Given the description of an element on the screen output the (x, y) to click on. 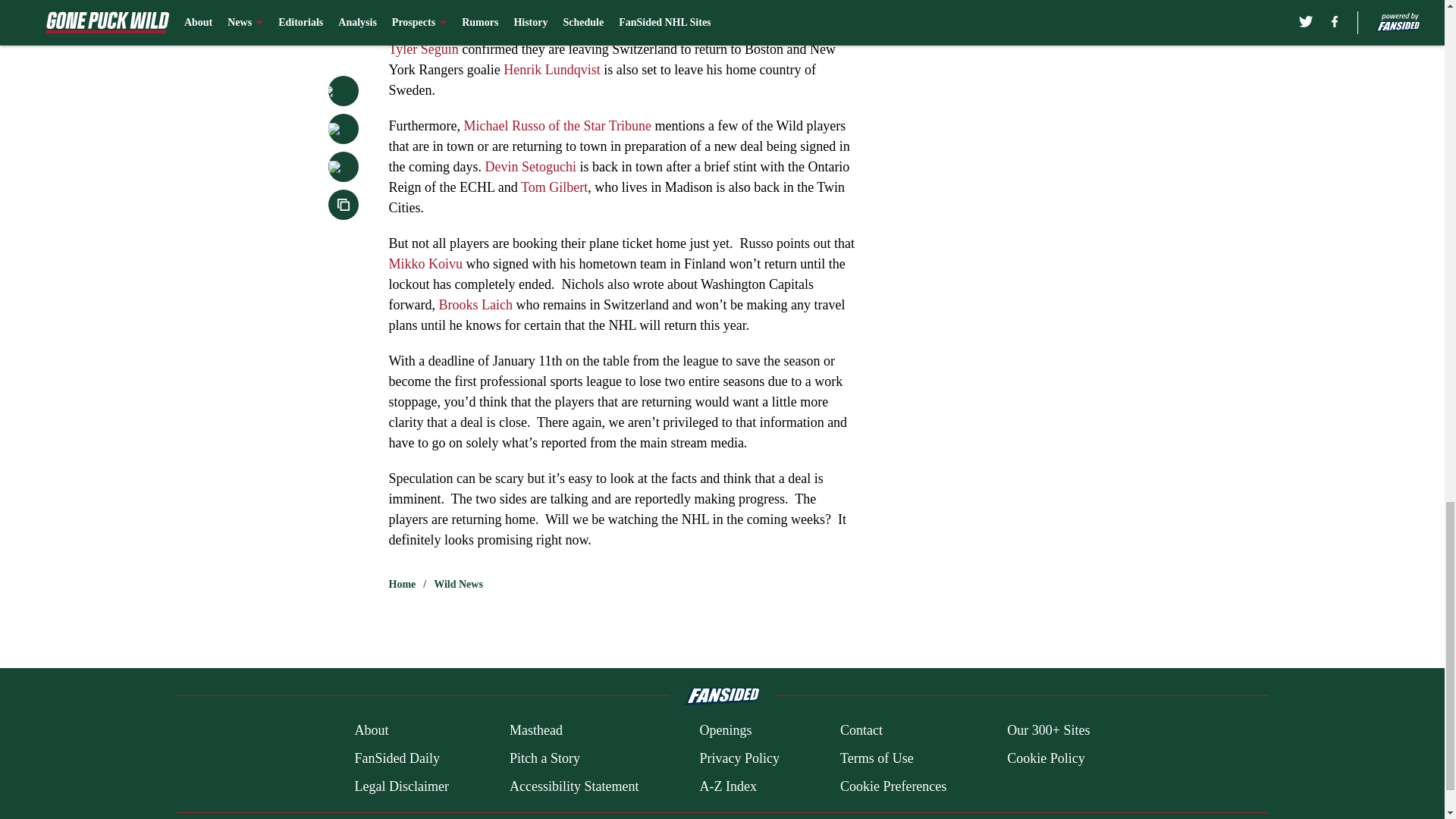
Michael Russo of the Star Tribune (556, 125)
Wild News (458, 584)
Mikko Koivu (425, 263)
Chris Nichols, a fantasy expert for Sportsnet.ca (517, 7)
Openings (724, 730)
Tom Gilbert (554, 186)
About (370, 730)
Henrik Lundqvist (551, 69)
Home (401, 584)
Brooks Laich (475, 304)
Patrice Bergeron (762, 28)
CSNWashington.com (511, 28)
Contact (861, 730)
Masthead (535, 730)
Devin Setoguchi (529, 166)
